Given the description of an element on the screen output the (x, y) to click on. 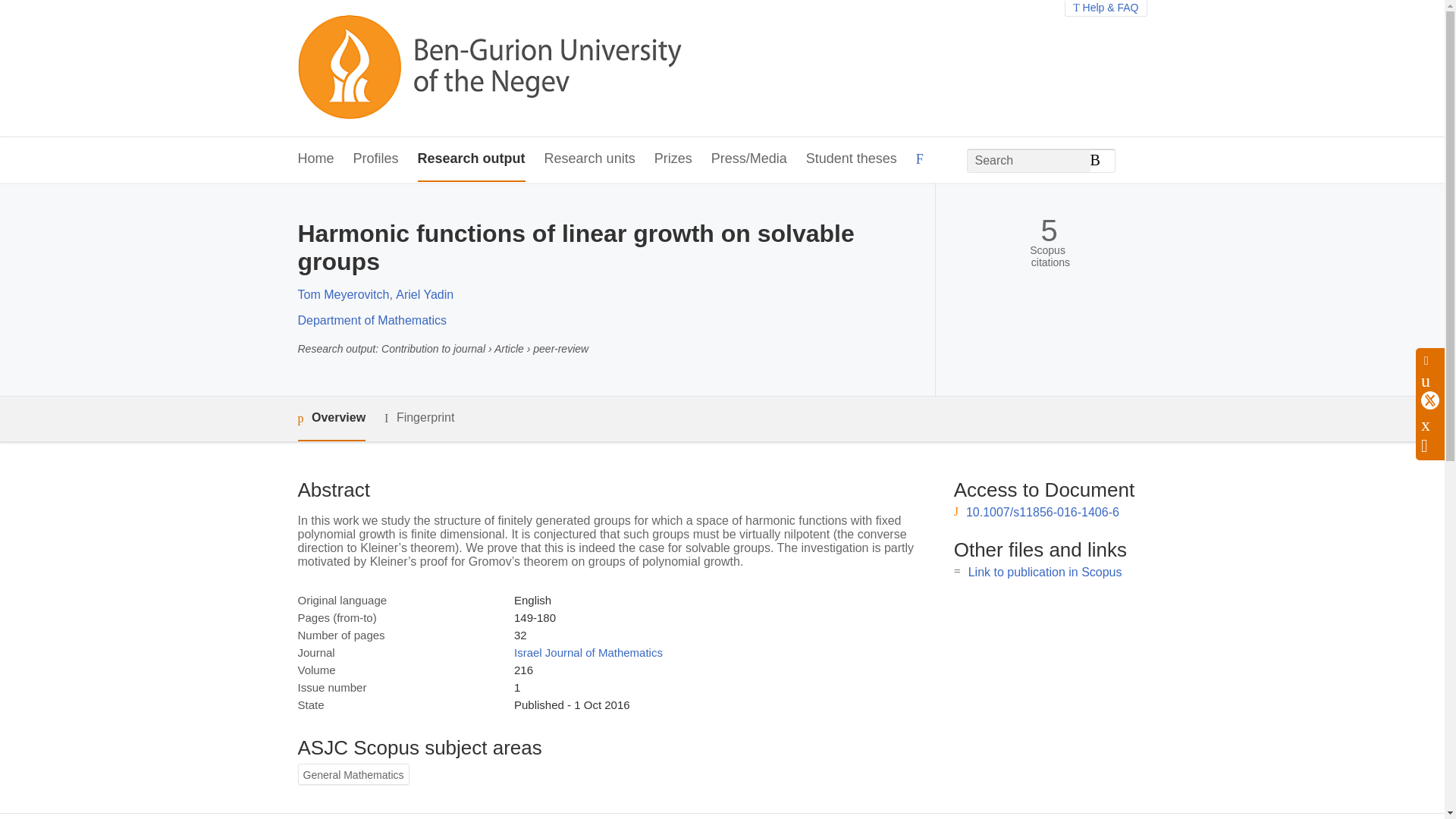
Research units (589, 159)
Profiles (375, 159)
Ben-Gurion University Research Portal Home (489, 68)
Prizes (673, 159)
Ariel Yadin (424, 294)
Home (315, 159)
Israel Journal of Mathematics (587, 652)
Student theses (851, 159)
Department of Mathematics (371, 319)
Fingerprint (419, 417)
Overview (331, 418)
Tom Meyerovitch (342, 294)
Link to publication in Scopus (1045, 571)
Research output (471, 159)
